Given the description of an element on the screen output the (x, y) to click on. 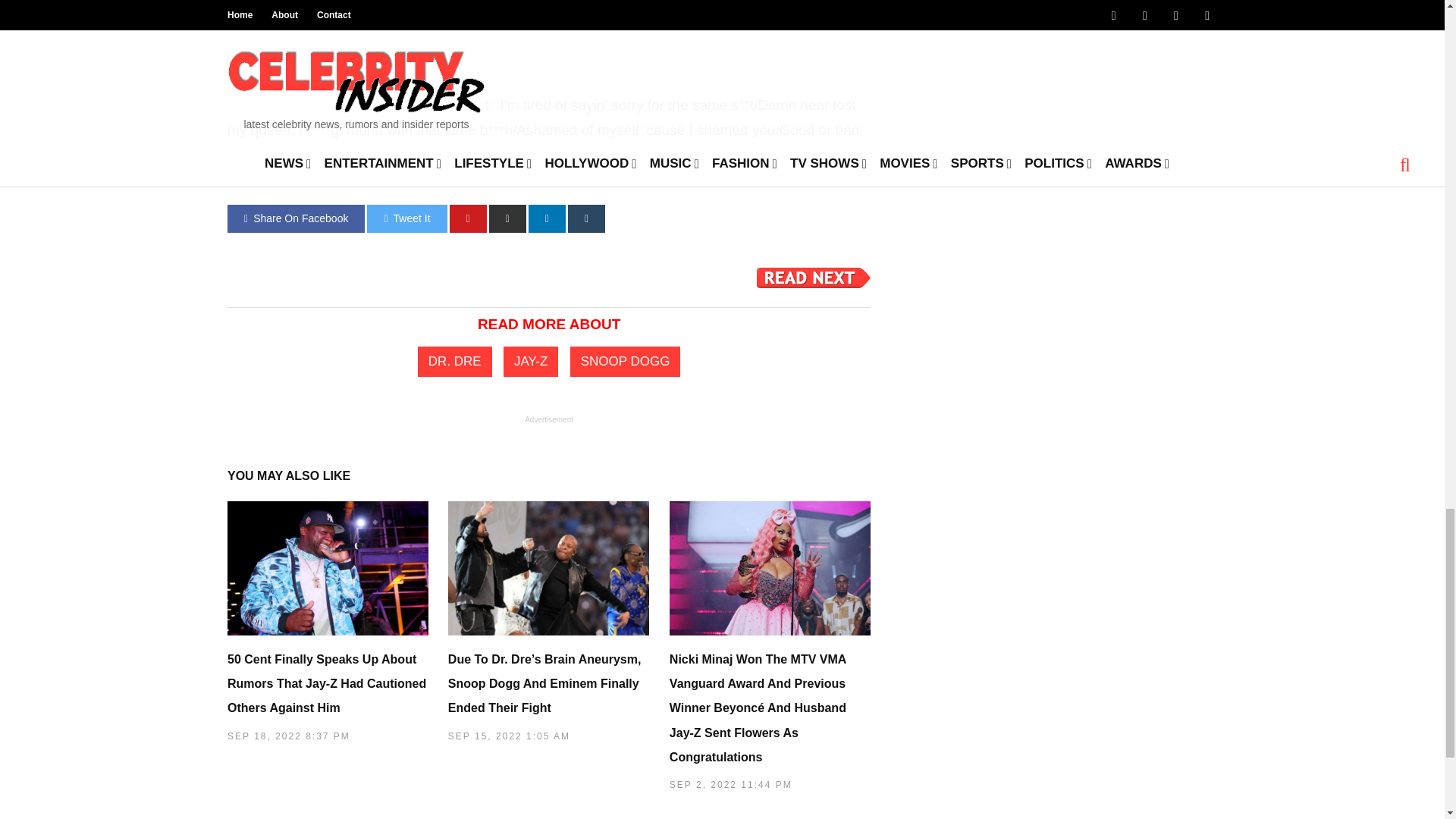
Share On Facebook (296, 218)
Share On Reddit (507, 218)
Share On Linkedin (547, 218)
Share On Pinterest (467, 218)
Share On Twitter (406, 218)
